Given the description of an element on the screen output the (x, y) to click on. 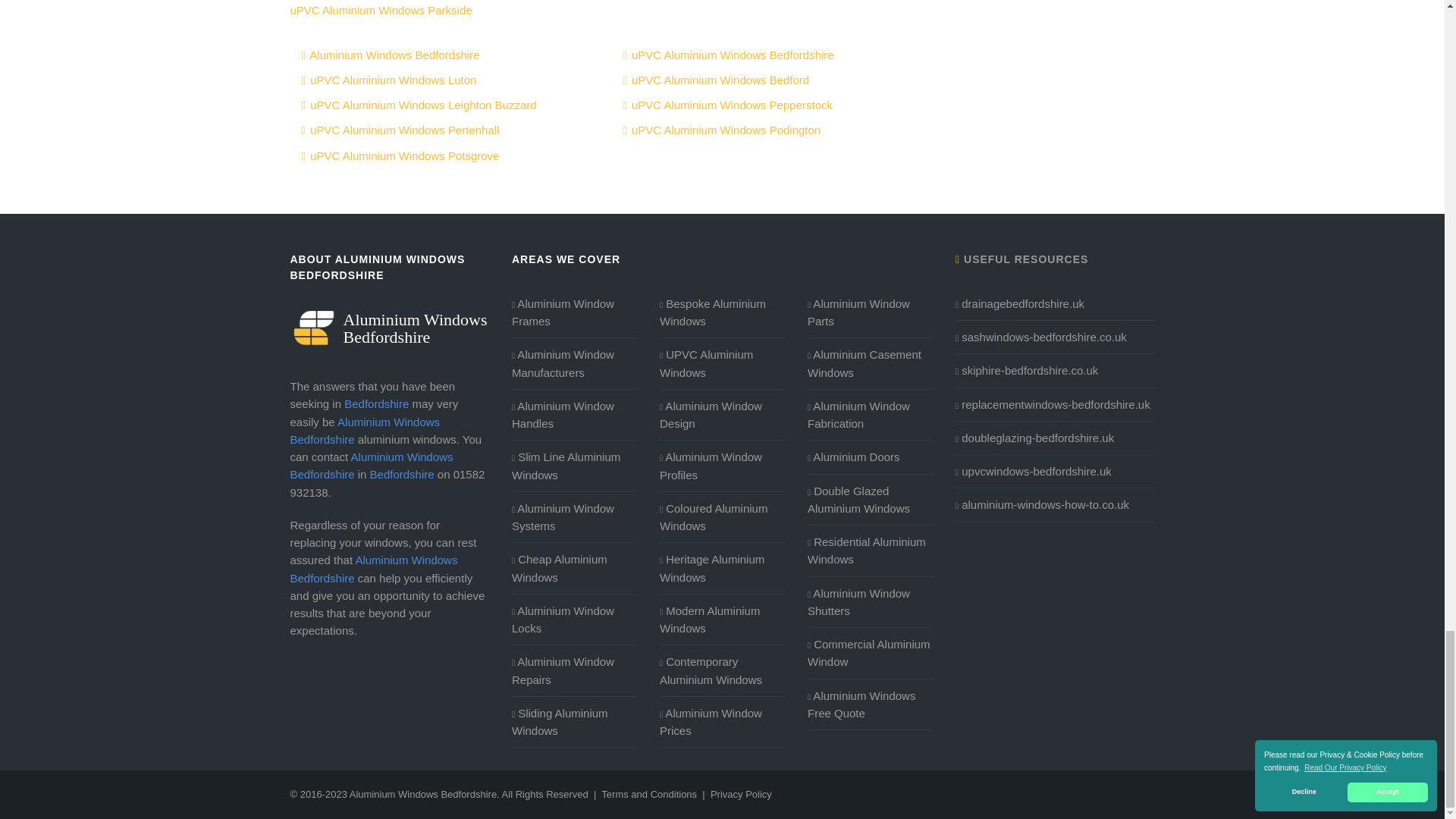
Aluminium Windows Bedfordshire (389, 327)
